Given the description of an element on the screen output the (x, y) to click on. 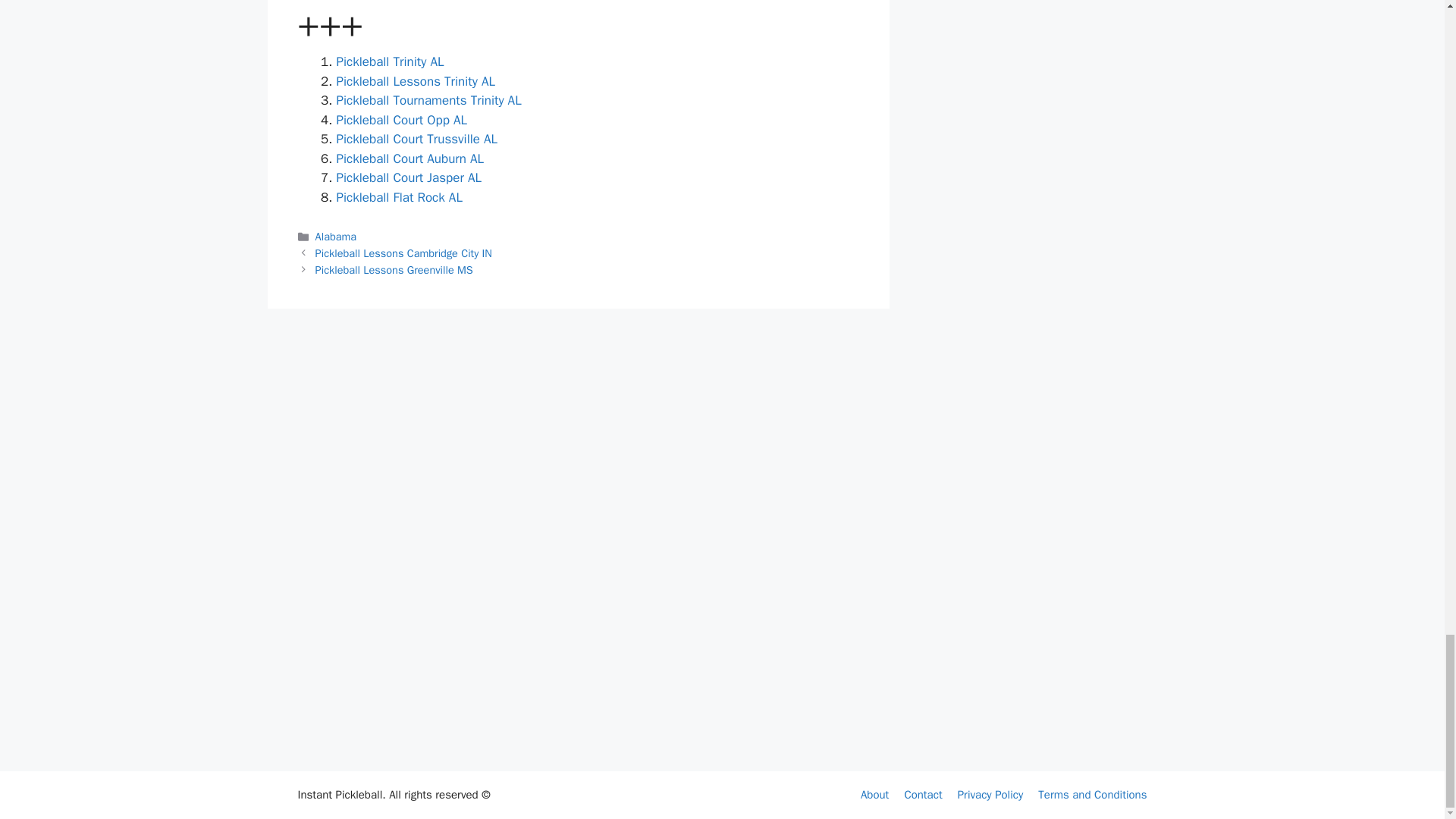
Pickleball Court Jasper AL (408, 177)
Pickleball Lessons Greenville MS (394, 269)
Pickleball Trinity AL (390, 61)
Pickleball Flat Rock AL (399, 197)
Alabama (335, 236)
Pickleball Lessons Cambridge City IN (403, 253)
Pickleball Court Trussville AL (416, 139)
Pickleball Court Opp AL (401, 119)
Pickleball Tournaments Trinity AL (428, 100)
Pickleball Court Auburn AL (410, 158)
